Given the description of an element on the screen output the (x, y) to click on. 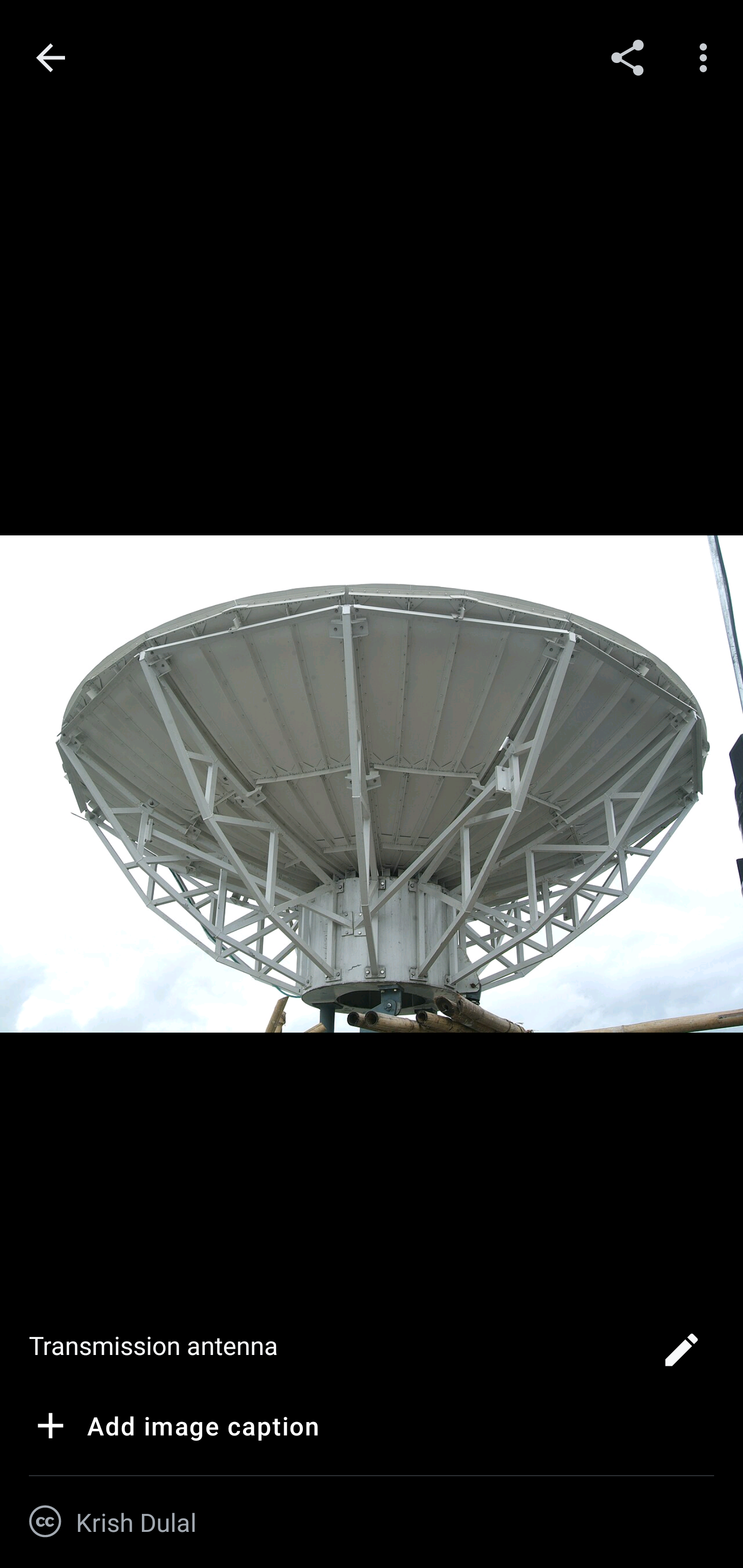
Navigate up (50, 57)
Share (626, 57)
More options (706, 57)
Edit image caption (681, 1355)
Add image caption (174, 1428)
CC BY 3.0 (44, 1521)
